Given the description of an element on the screen output the (x, y) to click on. 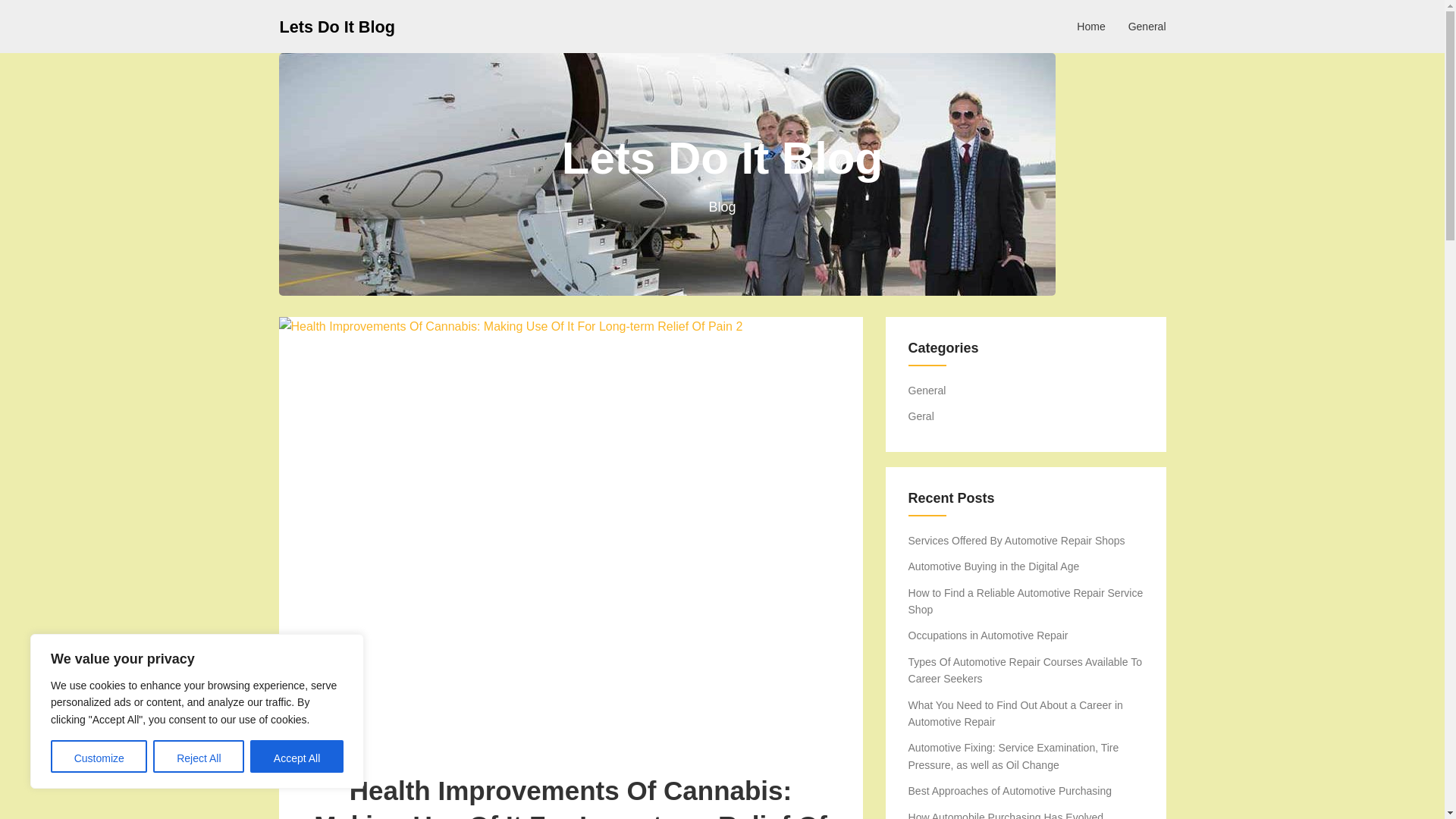
Best Approaches of Automotive Purchasing (1010, 790)
How Automobile Purchasing Has Evolved (1005, 815)
Occupations in Automotive Repair (988, 635)
General (1146, 26)
Accept All (296, 756)
Services Offered By Automotive Repair Shops (1016, 540)
Automotive Buying in the Digital Age (994, 566)
How to Find a Reliable Automotive Repair Service Shop (1025, 601)
